Given the description of an element on the screen output the (x, y) to click on. 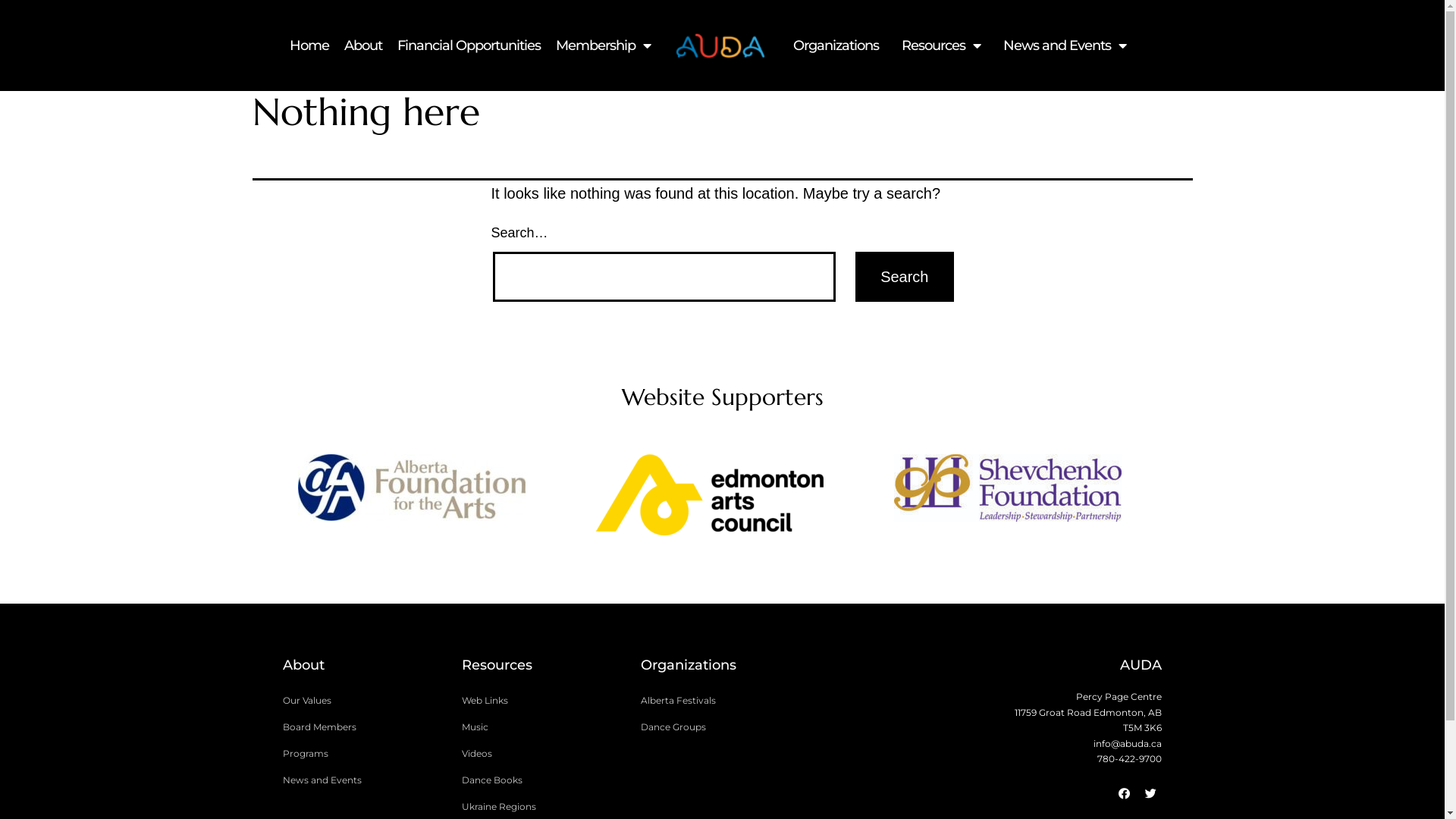
Ukraine Regions Element type: text (542, 806)
News and Events Element type: text (1064, 45)
Dance Groups Element type: text (721, 726)
Financial Opportunities Element type: text (468, 45)
Music Element type: text (542, 726)
Web Links Element type: text (542, 700)
Logo 3 (1) Element type: hover (719, 45)
Videos Element type: text (542, 753)
Our Values Element type: text (363, 700)
About Element type: text (362, 45)
Resources Element type: text (940, 45)
Board Members Element type: text (363, 726)
Home Element type: text (309, 45)
Search Element type: text (904, 276)
News and Events Element type: text (363, 779)
Alberta Festivals Element type: text (721, 700)
Dance Books Element type: text (542, 779)
Programs Element type: text (363, 753)
Membership Element type: text (603, 45)
Organizations Element type: text (835, 45)
